Given the description of an element on the screen output the (x, y) to click on. 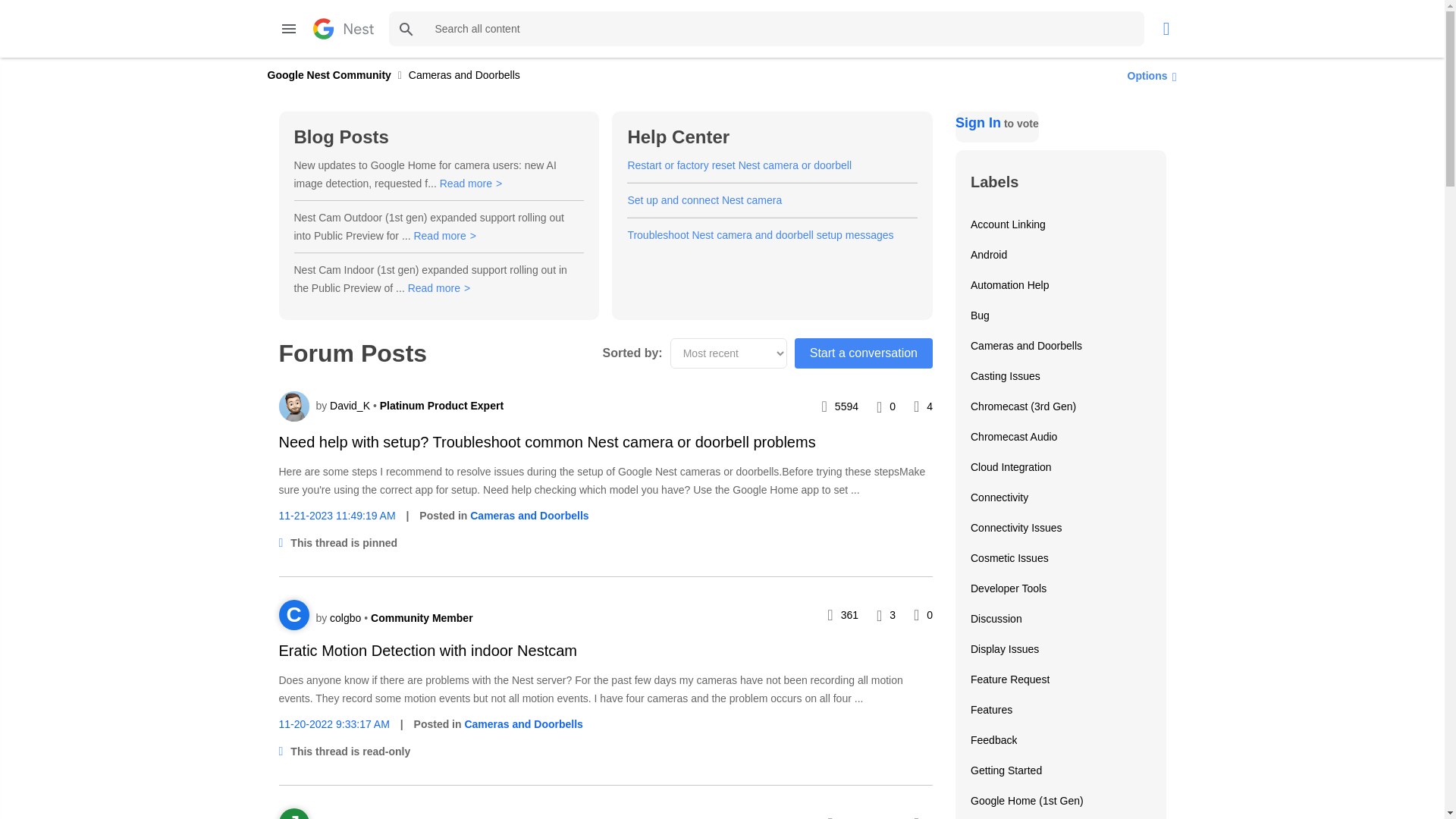
View profile (347, 617)
Eratic Motion Detection with indoor Nestcam (428, 650)
Cameras and Doorbells (529, 515)
Read more (438, 287)
View profile (293, 813)
Restart or factory reset Nest camera or doorbell (739, 164)
Google Nest Community (342, 28)
Read more (444, 235)
Google Nest Community (328, 74)
Search (765, 28)
Search (405, 29)
View profile (293, 406)
Show option menu (1147, 75)
